Given the description of an element on the screen output the (x, y) to click on. 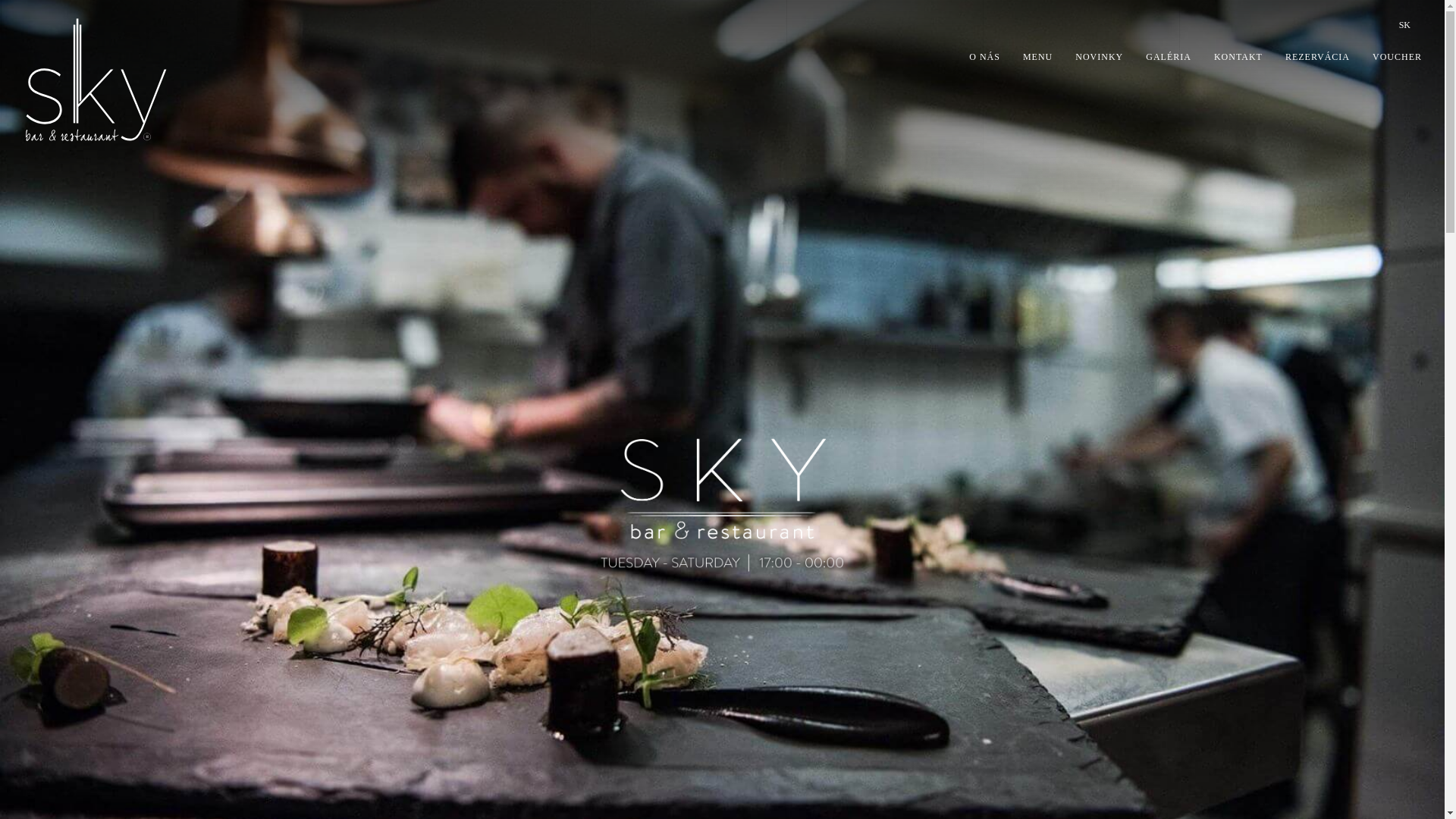
MENU (1038, 56)
NOVINKY (1098, 56)
SK (1403, 25)
KONTAKT (1237, 56)
VOUCHER (1396, 56)
